Given the description of an element on the screen output the (x, y) to click on. 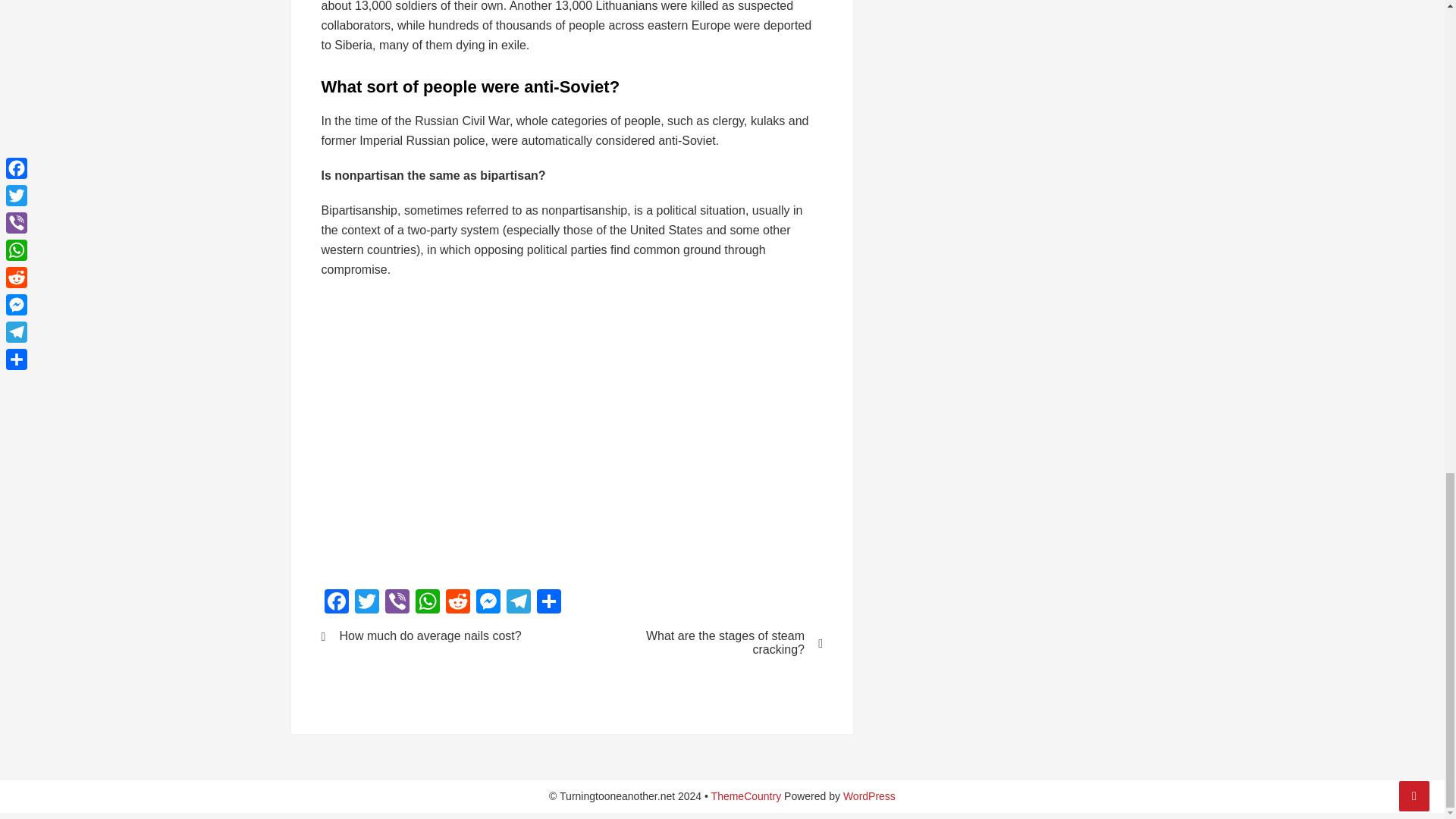
Telegram (518, 602)
WhatsApp (427, 602)
BasePress - The best free WordPress blog theme for WordPress (746, 796)
Share (549, 602)
Reddit (457, 602)
Viber (396, 602)
What are the stages of steam cracking? (707, 642)
WordPress (869, 796)
Facebook (336, 602)
Twitter (366, 602)
Facebook (336, 602)
How much do average nails cost? (436, 635)
Twitter (366, 602)
Messenger (488, 602)
Messenger (488, 602)
